Given the description of an element on the screen output the (x, y) to click on. 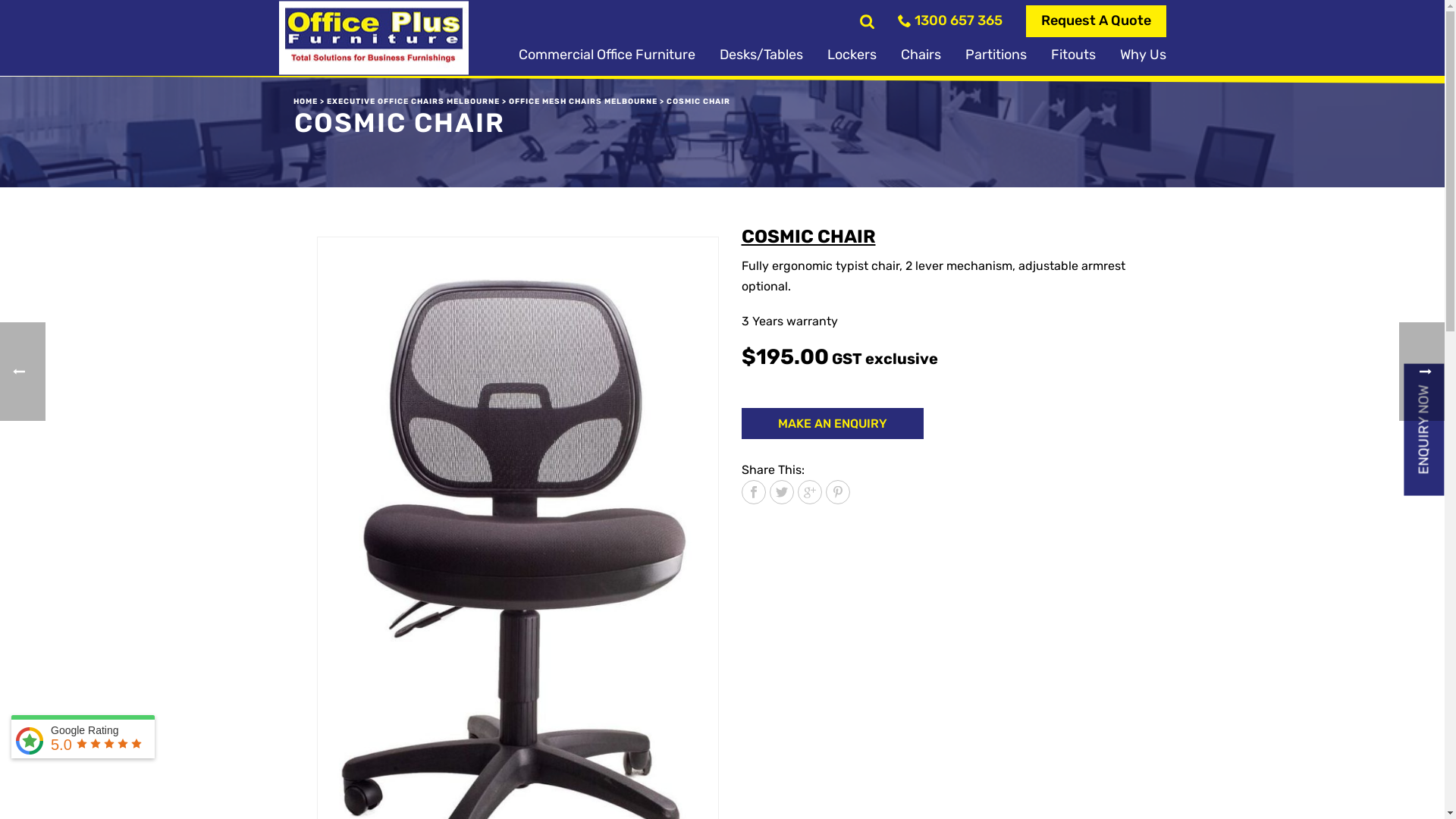
Chairs Element type: text (920, 55)
OFFICE MESH CHAIRS MELBOURNE Element type: text (582, 101)
Commercial Office Furniture Element type: text (606, 55)
Desks/Tables Element type: text (760, 55)
Partitions Element type: text (995, 55)
MAKE AN ENQUIRY Element type: text (832, 422)
Fitouts Element type: text (1072, 55)
HOME Element type: text (304, 101)
Request A Quote Element type: text (1095, 21)
EXECUTIVE OFFICE CHAIRS MELBOURNE Element type: text (412, 101)
1300 657 365 Element type: text (949, 20)
Lockers Element type: text (851, 55)
Why Us Element type: text (1136, 55)
